Given the description of an element on the screen output the (x, y) to click on. 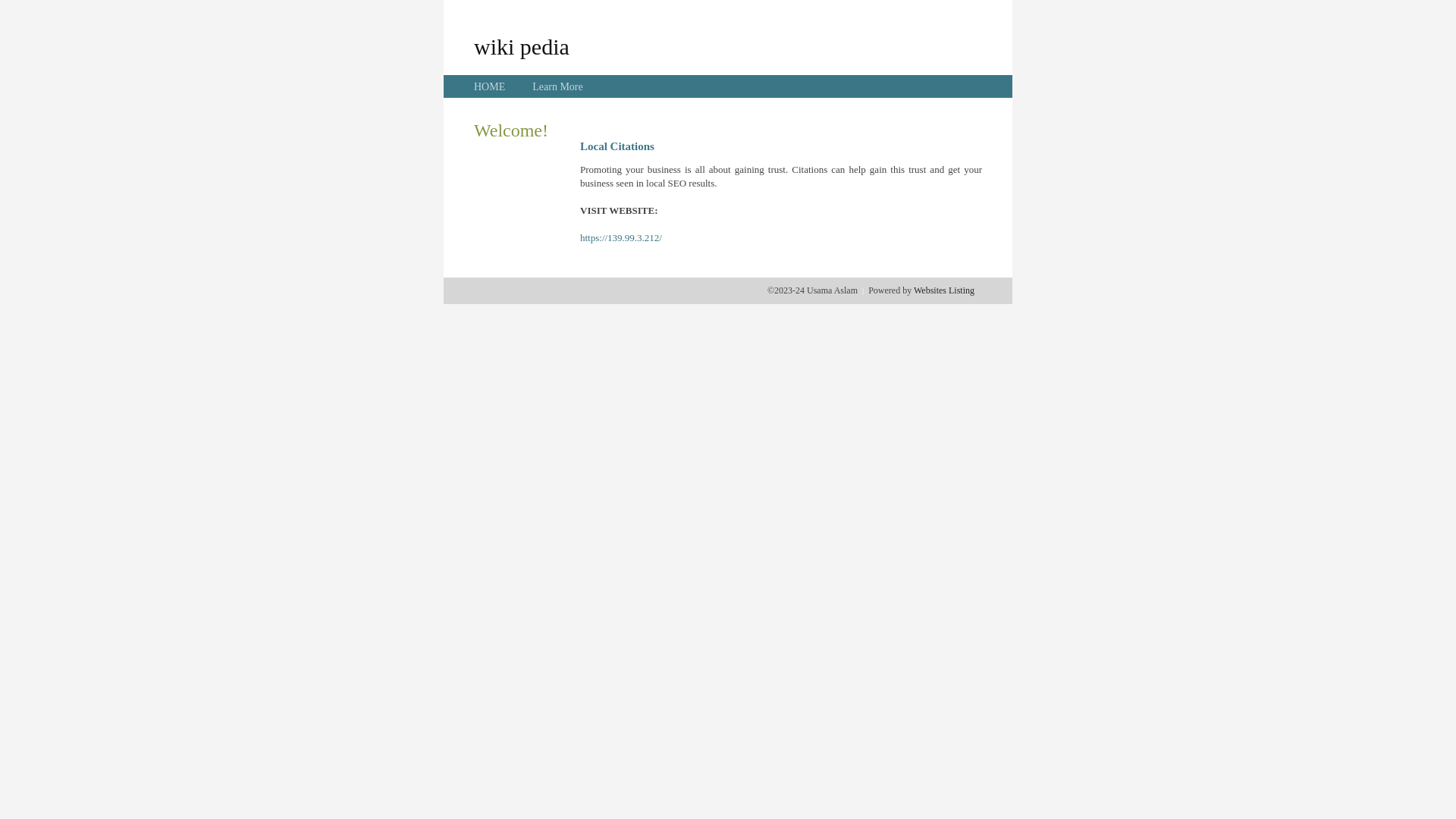
HOME Element type: text (489, 86)
Learn More Element type: text (557, 86)
Websites Listing Element type: text (943, 290)
https://139.99.3.212/ Element type: text (621, 237)
wiki pedia Element type: text (521, 46)
